Given the description of an element on the screen output the (x, y) to click on. 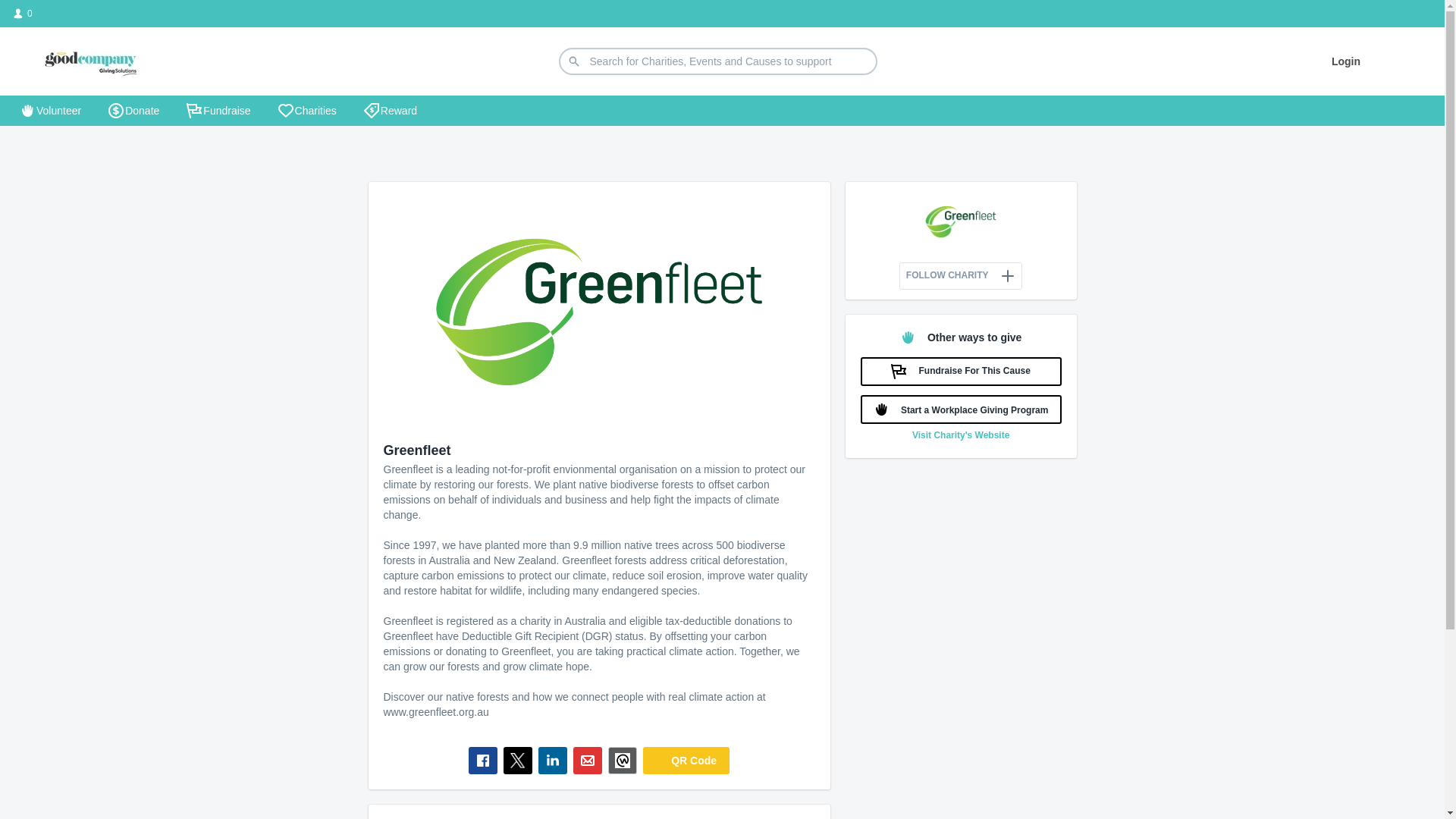
Start a Workplace Giving Program Element type: text (960, 409)
Fundraise Element type: text (217, 110)
Reward Element type: text (390, 110)
Visit Charity's Website Element type: text (960, 434)
Donate Element type: text (133, 110)
Login Element type: text (1345, 61)
Fundraise For This Cause Element type: text (960, 371)
QR Code Element type: text (686, 759)
Charities Element type: text (307, 110)
0 Element type: text (22, 13)
FOLLOW CHARITY Element type: text (960, 275)
Volunteer Element type: text (50, 110)
